Given the description of an element on the screen output the (x, y) to click on. 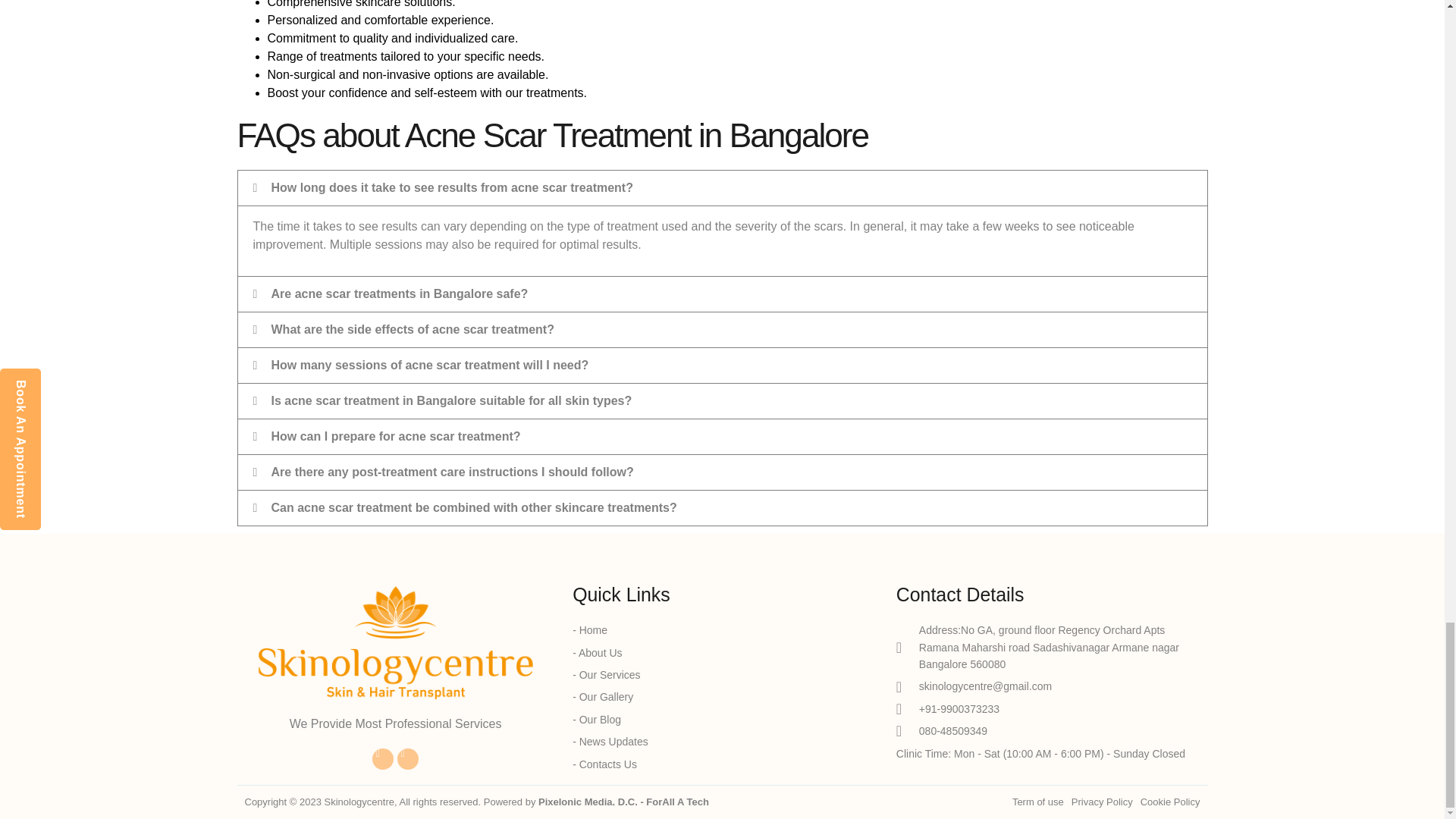
- Contacts Us (722, 764)
- Our Services (722, 674)
- Home (722, 629)
- Our Blog (722, 719)
- About Us (722, 652)
How can I prepare for acne scar treatment? (395, 436)
What are the side effects of acne scar treatment? (412, 328)
- Our Gallery (722, 696)
How many sessions of acne scar treatment will I need? (429, 364)
- News Updates (722, 741)
